Given the description of an element on the screen output the (x, y) to click on. 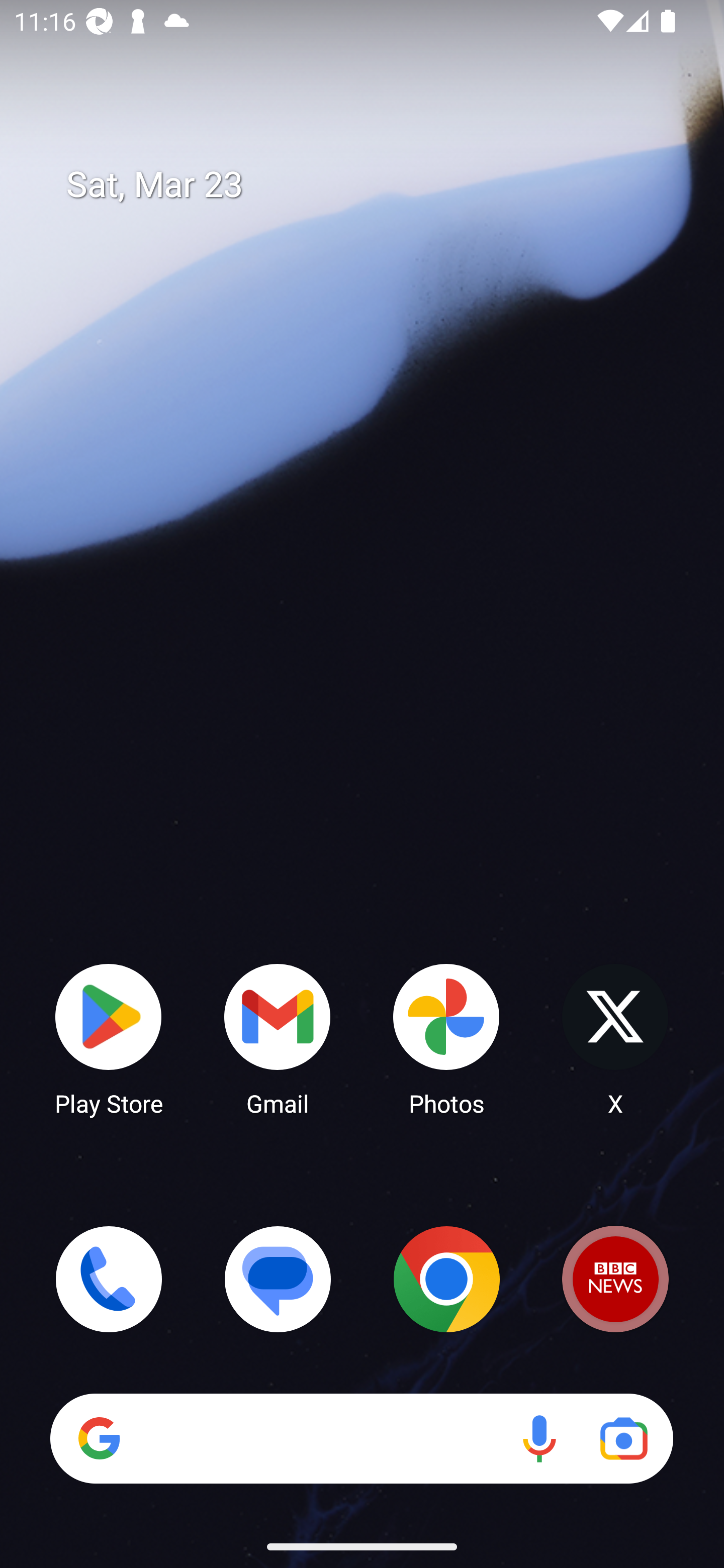
Sat, Mar 23 (375, 184)
Play Store (108, 1038)
Gmail (277, 1038)
Photos (445, 1038)
X (615, 1038)
Phone (108, 1279)
Messages (277, 1279)
Chrome (446, 1279)
BBC News Predicted app: BBC News (615, 1279)
Voice search (539, 1438)
Google Lens (623, 1438)
